Given the description of an element on the screen output the (x, y) to click on. 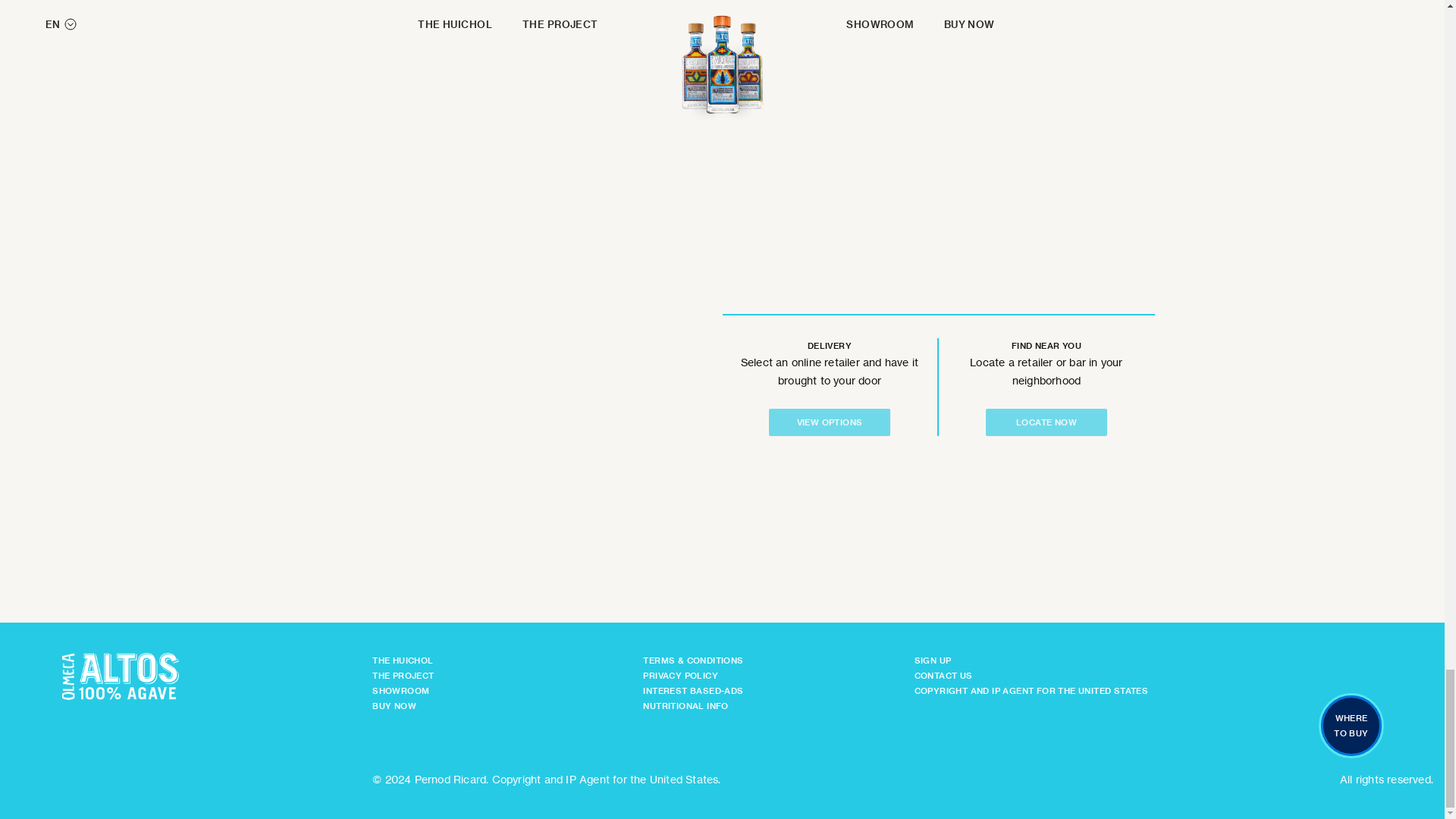
BUY NOW (394, 706)
PRIVACY POLICY (680, 675)
CONTACT US (943, 675)
INTEREST BASED-ADS (692, 690)
THE PROJECT (402, 675)
THE HUICHOL (402, 660)
SHOWROOM (400, 690)
THE PROJECT (402, 675)
LOCATE NOW (1045, 421)
THE HUICHOL (402, 660)
BUY NOW (394, 706)
CONTACT US (943, 675)
SHOWROOM (400, 690)
COPYRIGHT AND IP AGENT FOR THE UNITED STATES (1031, 690)
NUTRITIONAL INFO (685, 706)
